Given the description of an element on the screen output the (x, y) to click on. 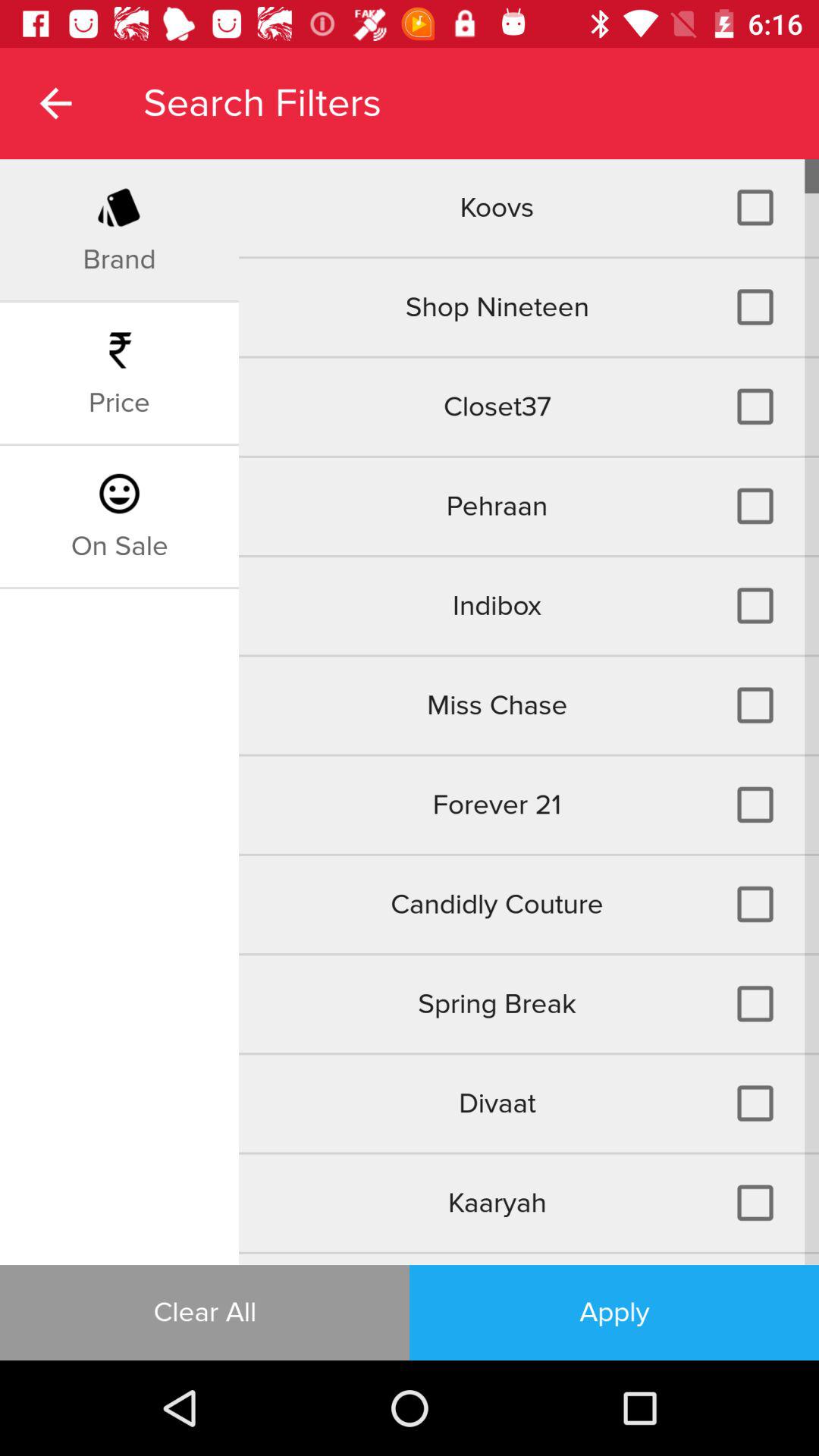
turn off item above miss chase (119, 546)
